Given the description of an element on the screen output the (x, y) to click on. 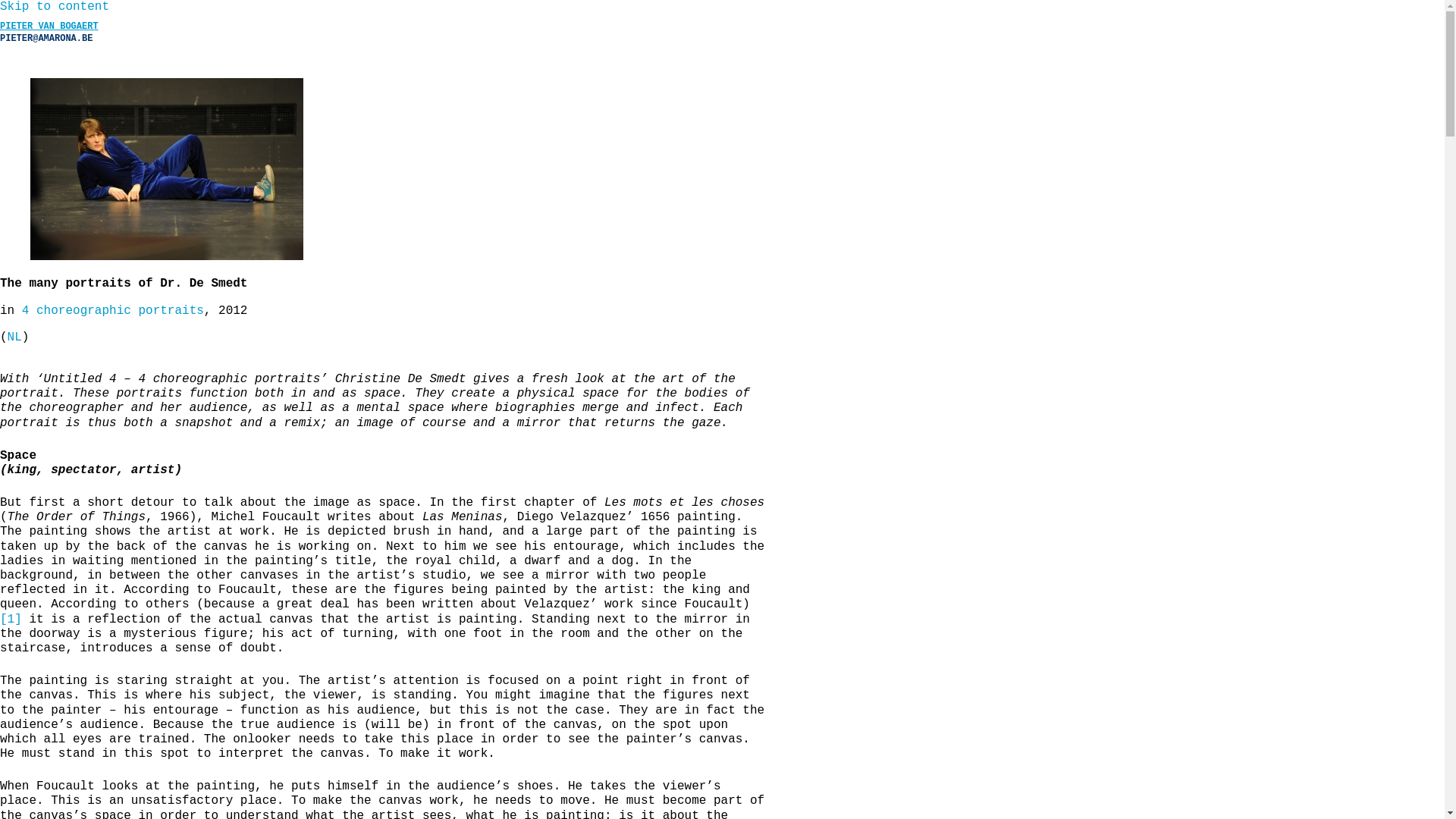
4 choreographic portraits Element type: text (112, 310)
[1] Element type: text (10, 619)
NL Element type: text (14, 337)
PIETER VAN BOGAERT Element type: text (49, 26)
Skip to content Element type: text (54, 6)
